Given the description of an element on the screen output the (x, y) to click on. 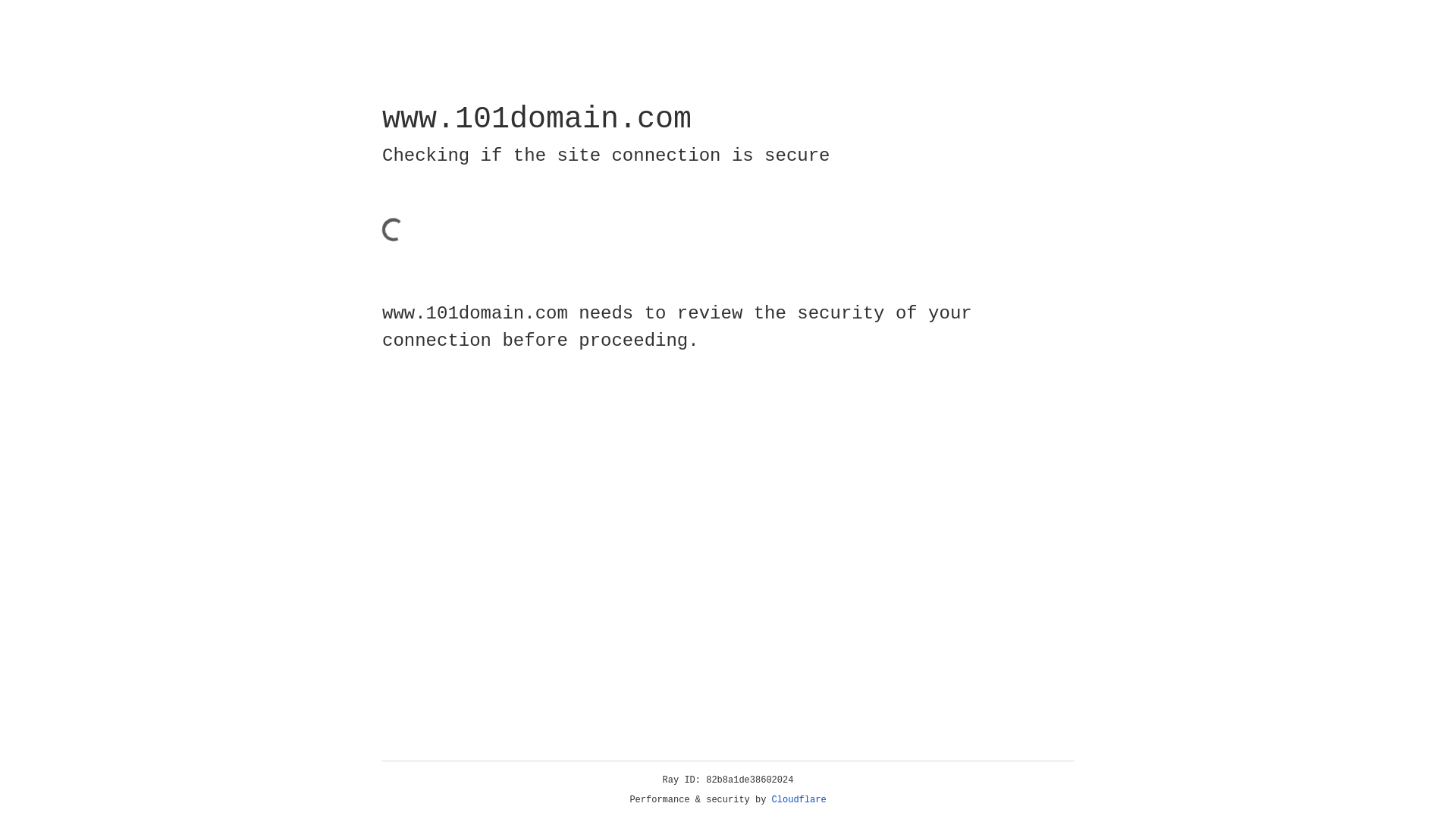
Cloudflare Element type: text (798, 799)
